Given the description of an element on the screen output the (x, y) to click on. 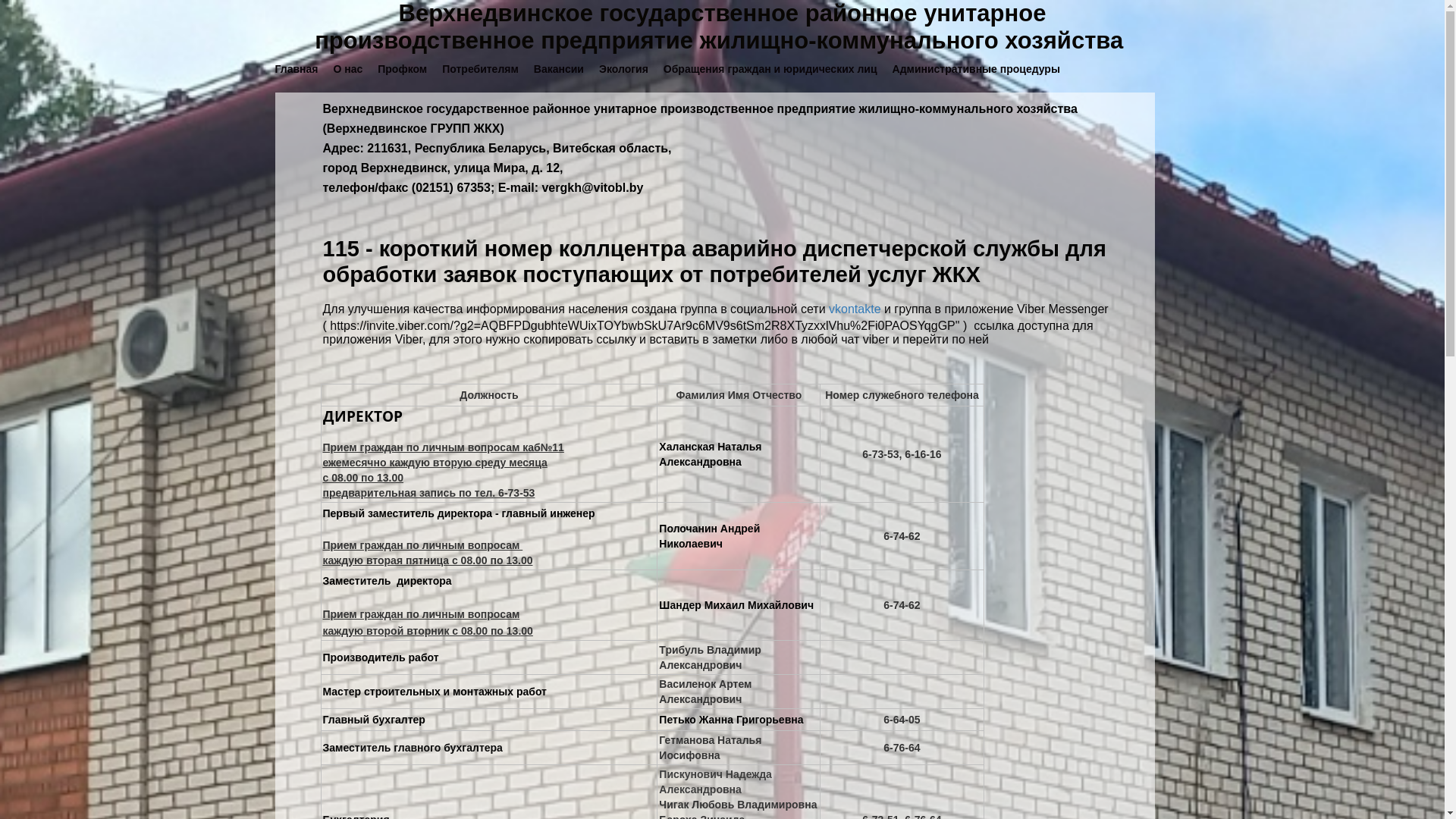
vkontakte Element type: text (854, 308)
